Given the description of an element on the screen output the (x, y) to click on. 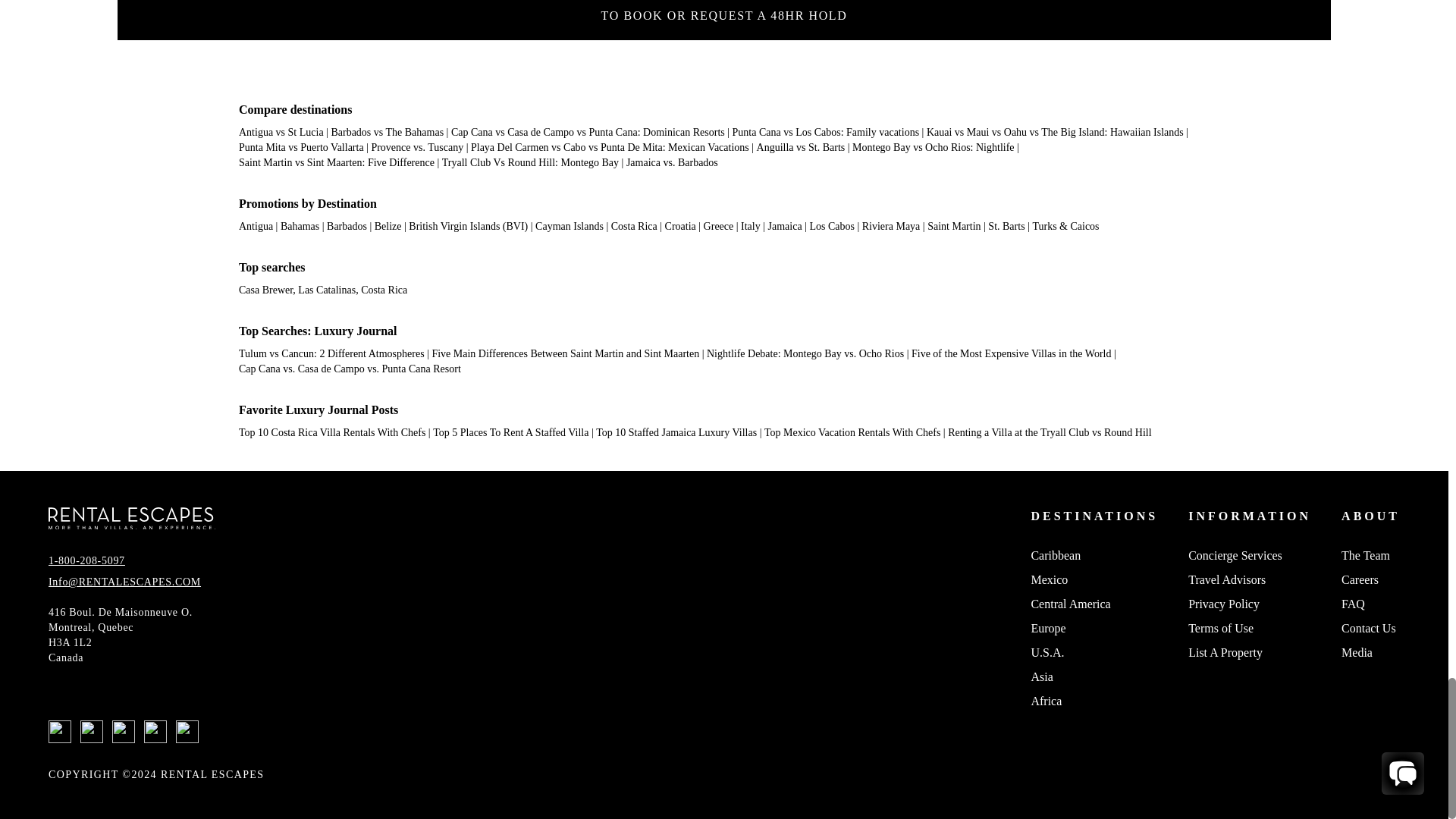
Bahamas (299, 225)
Punta Cana vs Los Cabos: Family vacations (826, 132)
Jamaica vs. Barbados (671, 162)
Provence vs. Tuscany (417, 147)
Tryall Club Vs Round Hill: Montego Bay (530, 162)
Kauai vs Maui vs Oahu vs The Big Island: Hawaiian Islands (1054, 132)
Cap Cana vs Casa de Campo vs Punta Cana: Dominican Resorts (588, 132)
Anguilla vs St. Barts (801, 147)
Montego Bay vs Ocho Rios: Nightlife (932, 147)
Barbados vs The Bahamas (387, 132)
Playa Del Carmen vs Cabo vs Punta De Mita: Mexican Vacations (609, 147)
Punta Mita vs Puerto Vallarta (301, 147)
Antigua (255, 225)
Saint Martin vs Sint Maarten: Five Difference (335, 162)
Belize (387, 225)
